Given the description of an element on the screen output the (x, y) to click on. 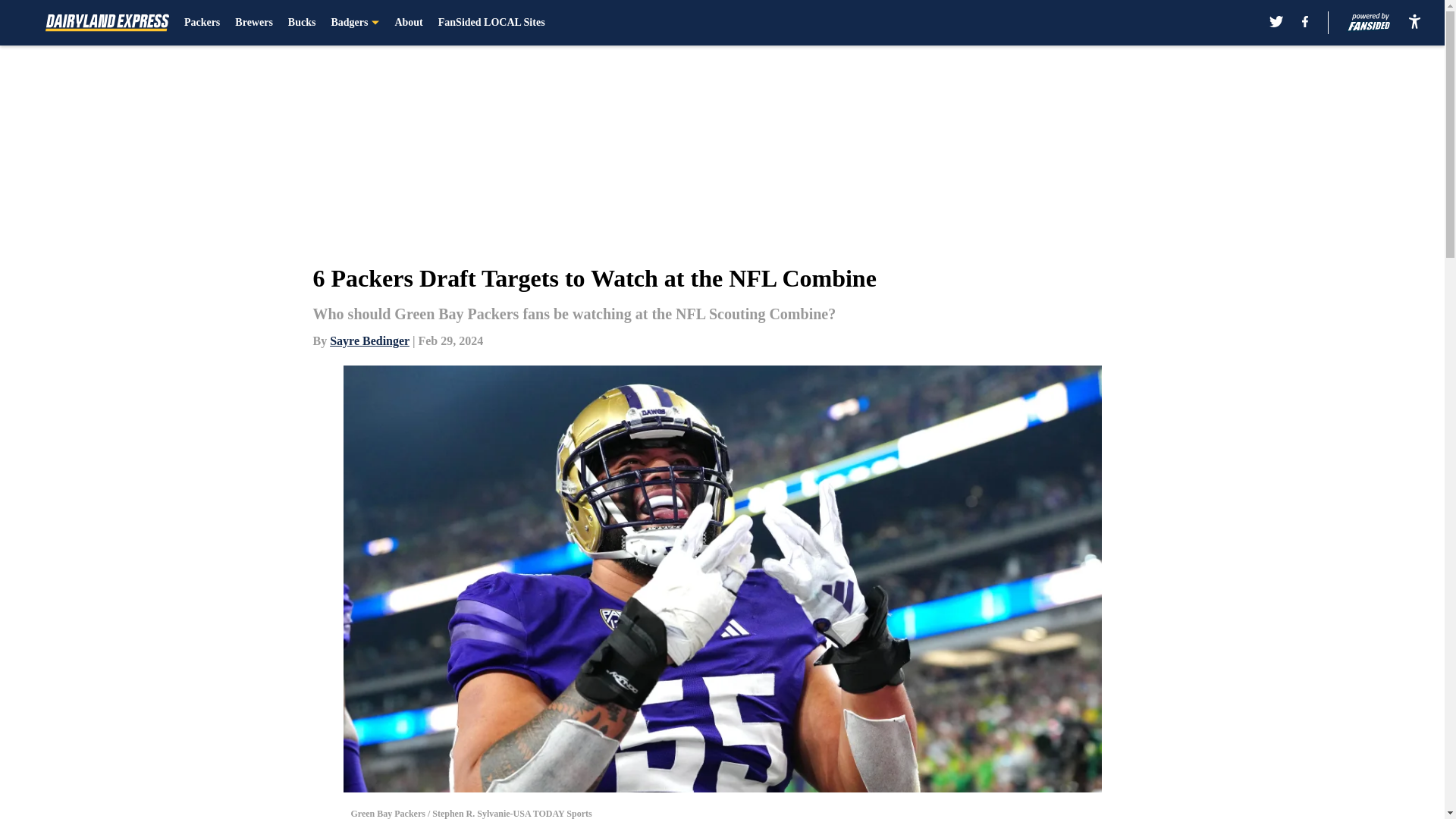
About (408, 22)
Bucks (301, 22)
Brewers (253, 22)
Sayre Bedinger (369, 340)
FanSided LOCAL Sites (491, 22)
Packers (201, 22)
